Given the description of an element on the screen output the (x, y) to click on. 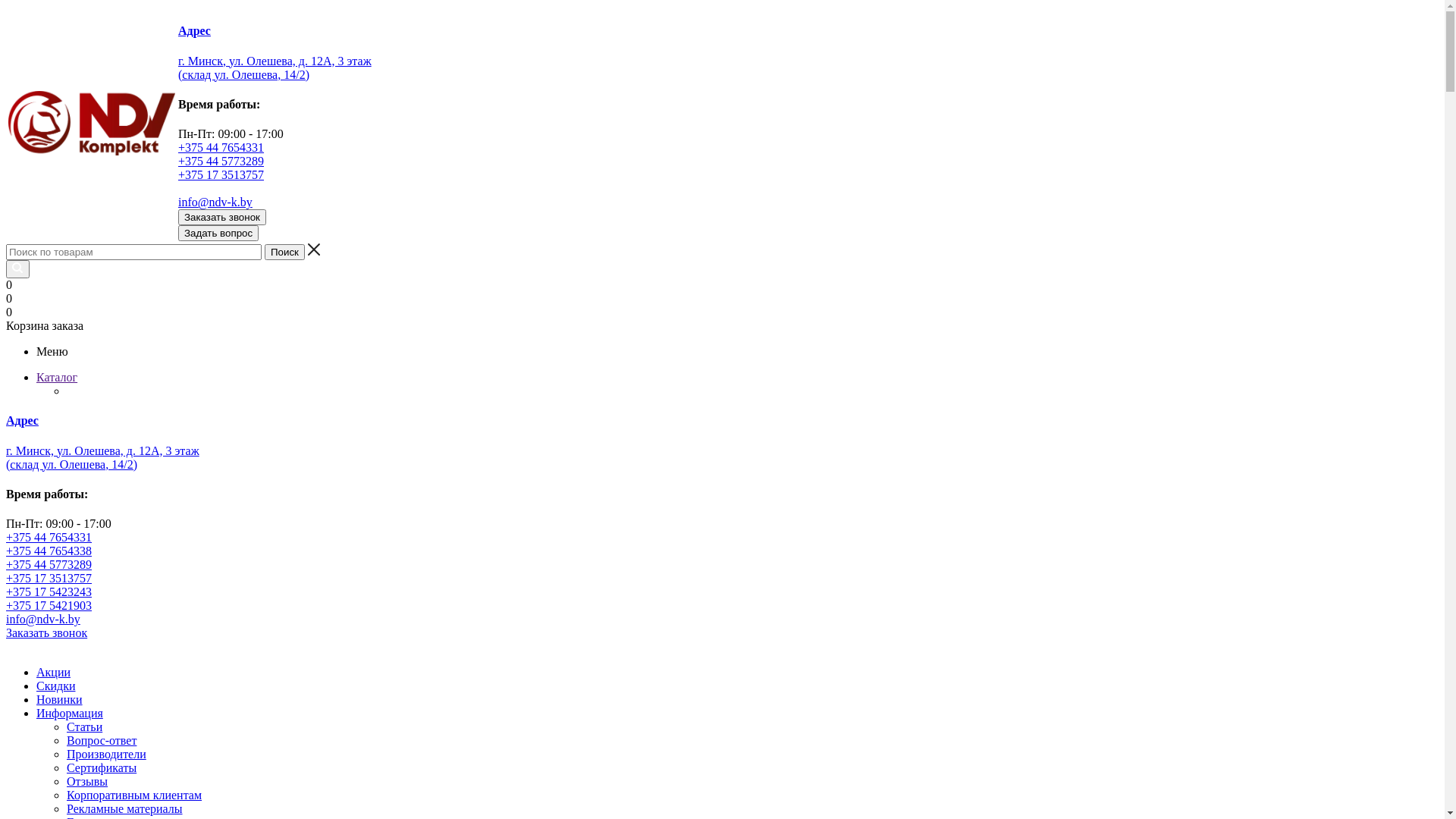
info@ndv-k.by Element type: text (215, 201)
+375 44 7654331 Element type: text (48, 536)
+375 17 5423243 Element type: text (48, 591)
info@ndv-k.by Element type: text (43, 618)
+375 44 7654331 Element type: text (220, 147)
+375 17 5421903 Element type: text (48, 605)
+375 44 5773289 Element type: text (220, 160)
+375 44 5773289 Element type: text (48, 564)
+375 44 7654338 Element type: text (48, 550)
+375 17 3513757 Element type: text (48, 577)
+375 17 3513757 Element type: text (220, 174)
